Given the description of an element on the screen output the (x, y) to click on. 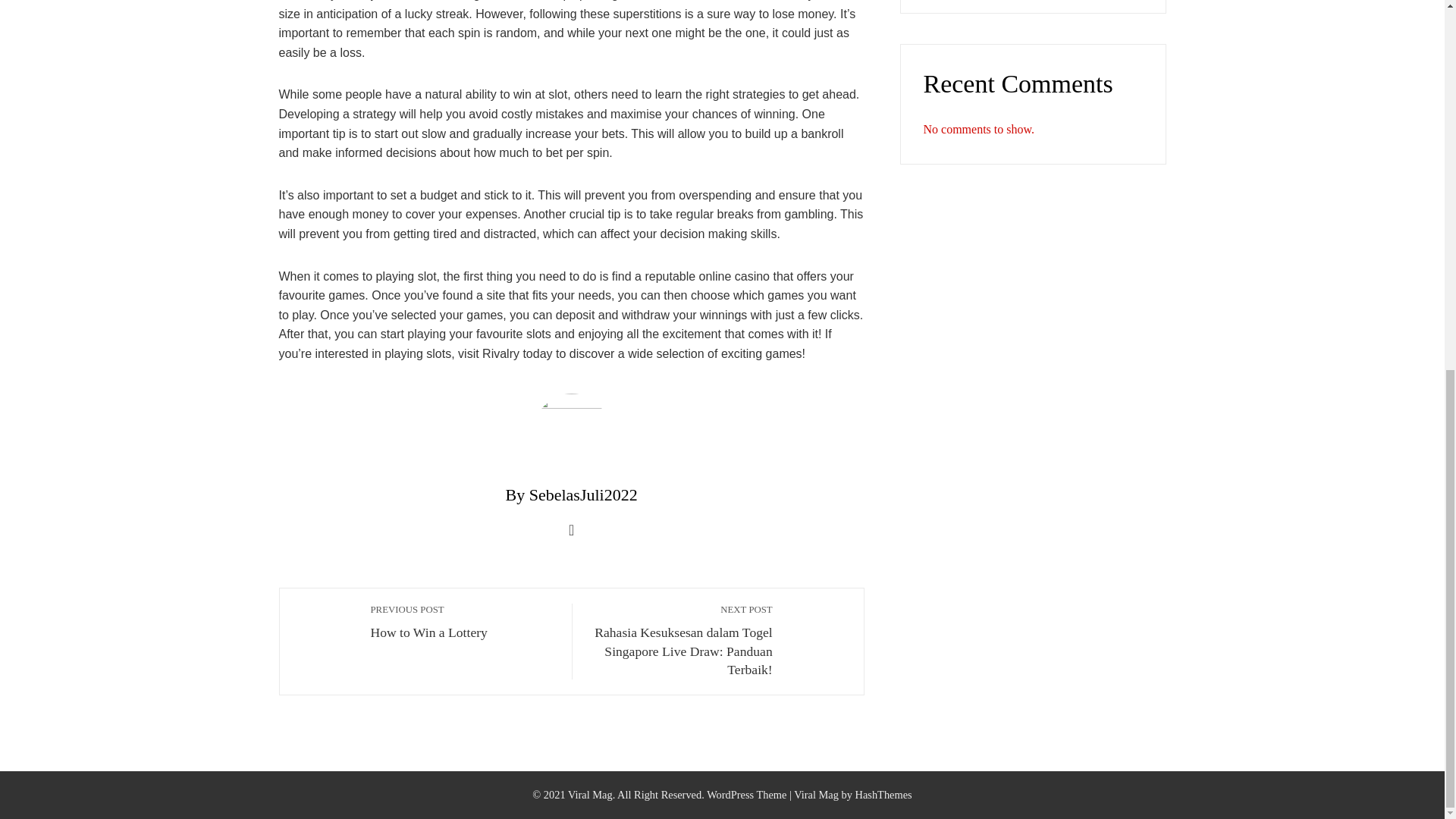
Viral Mag (462, 621)
Download Viral News (815, 794)
